Given the description of an element on the screen output the (x, y) to click on. 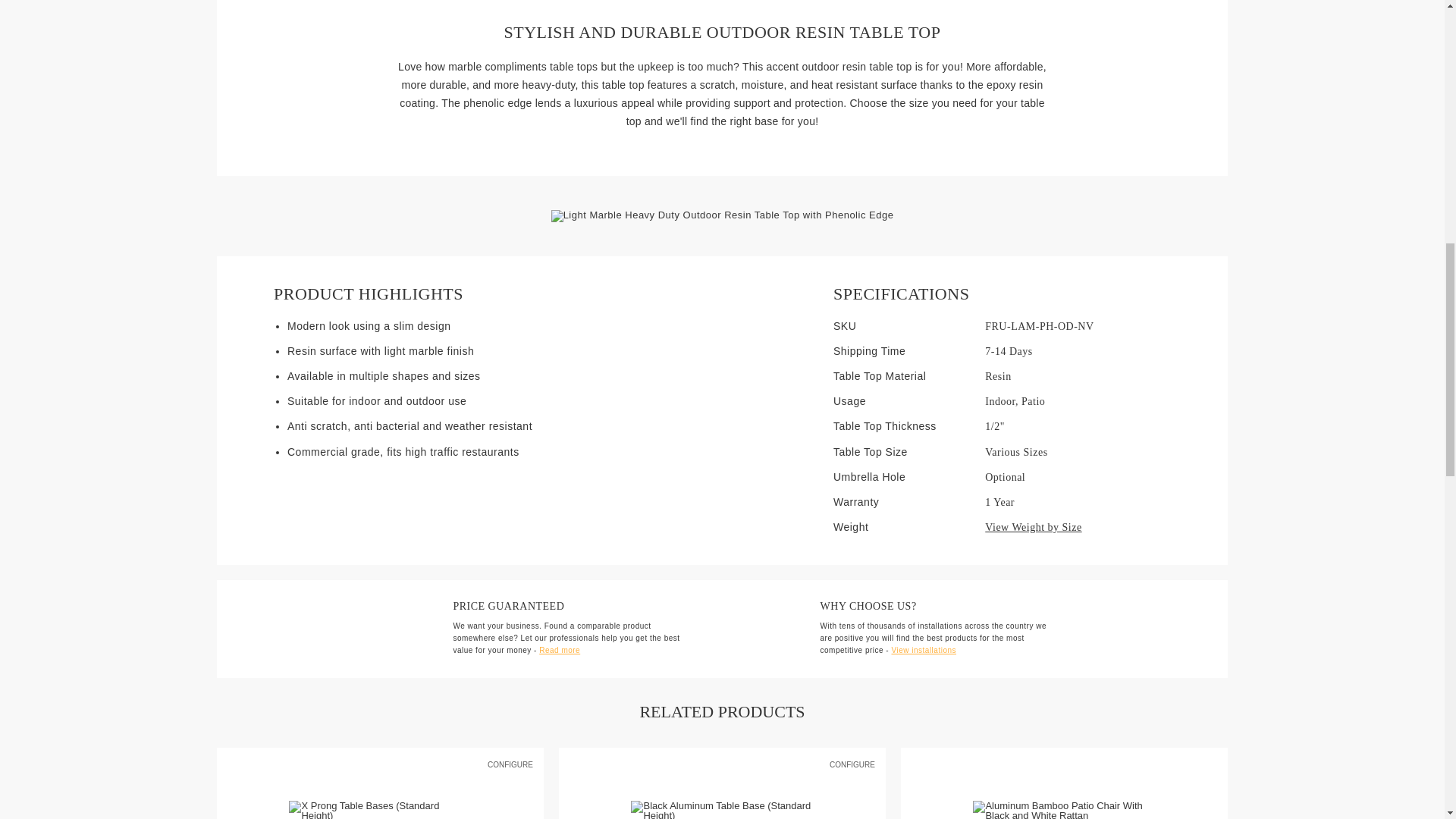
Aluminum Bamboo Patio Chair With Black and White Rattan (1063, 809)
